Given the description of an element on the screen output the (x, y) to click on. 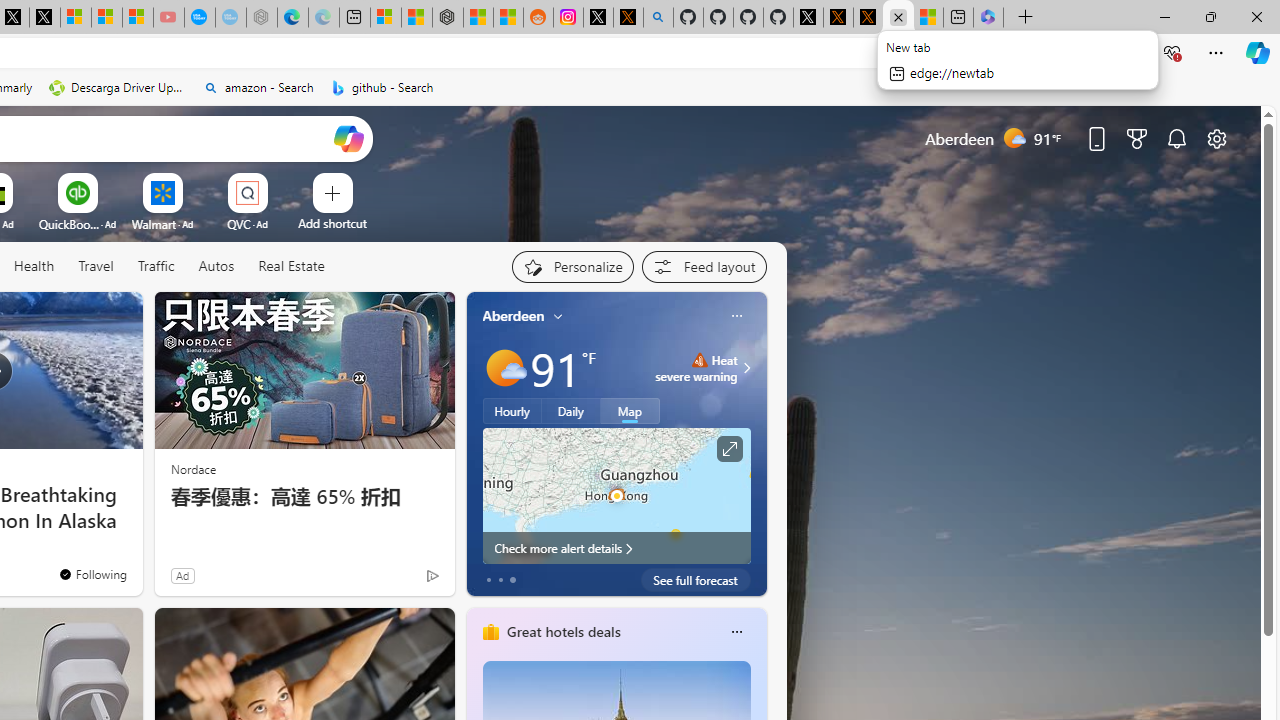
X Privacy Policy (868, 17)
Close (1256, 16)
Heat - Severe (699, 359)
Gloom - YouTube - Sleeping (168, 17)
Profile / X (808, 17)
github - Search (658, 17)
github - Search (381, 88)
Feed settings (703, 266)
Traffic (155, 265)
Great hotels deals (562, 631)
Map (630, 411)
Settings and more (Alt+F) (1215, 52)
tab-0 (488, 579)
